Given the description of an element on the screen output the (x, y) to click on. 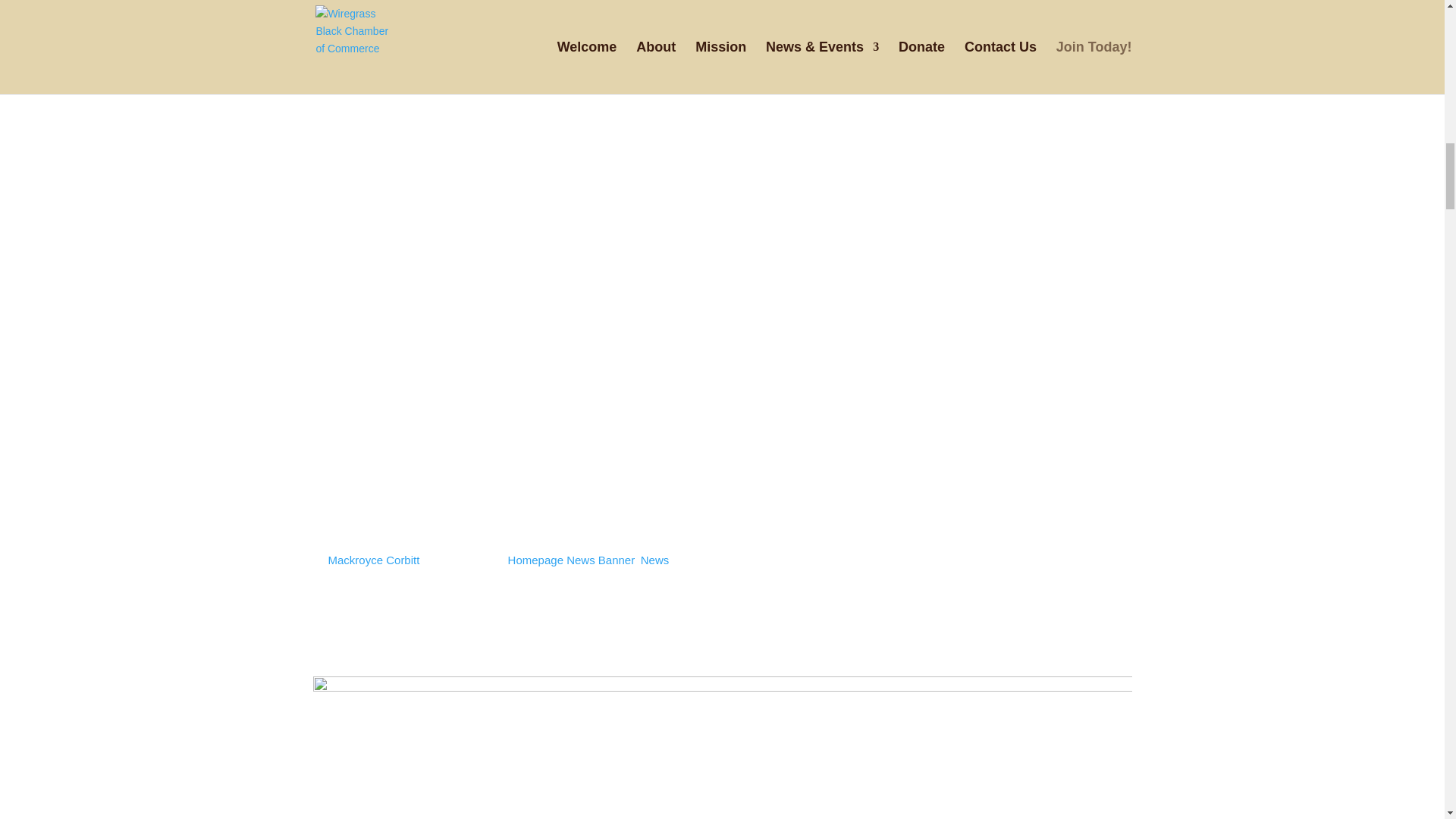
Posts by Mackroyce Corbitt (374, 559)
Homepage News Banner (571, 559)
Learning How to Use A.I. (422, 533)
Mackroyce Corbitt (374, 559)
Read More (366, 657)
News (654, 559)
